Given the description of an element on the screen output the (x, y) to click on. 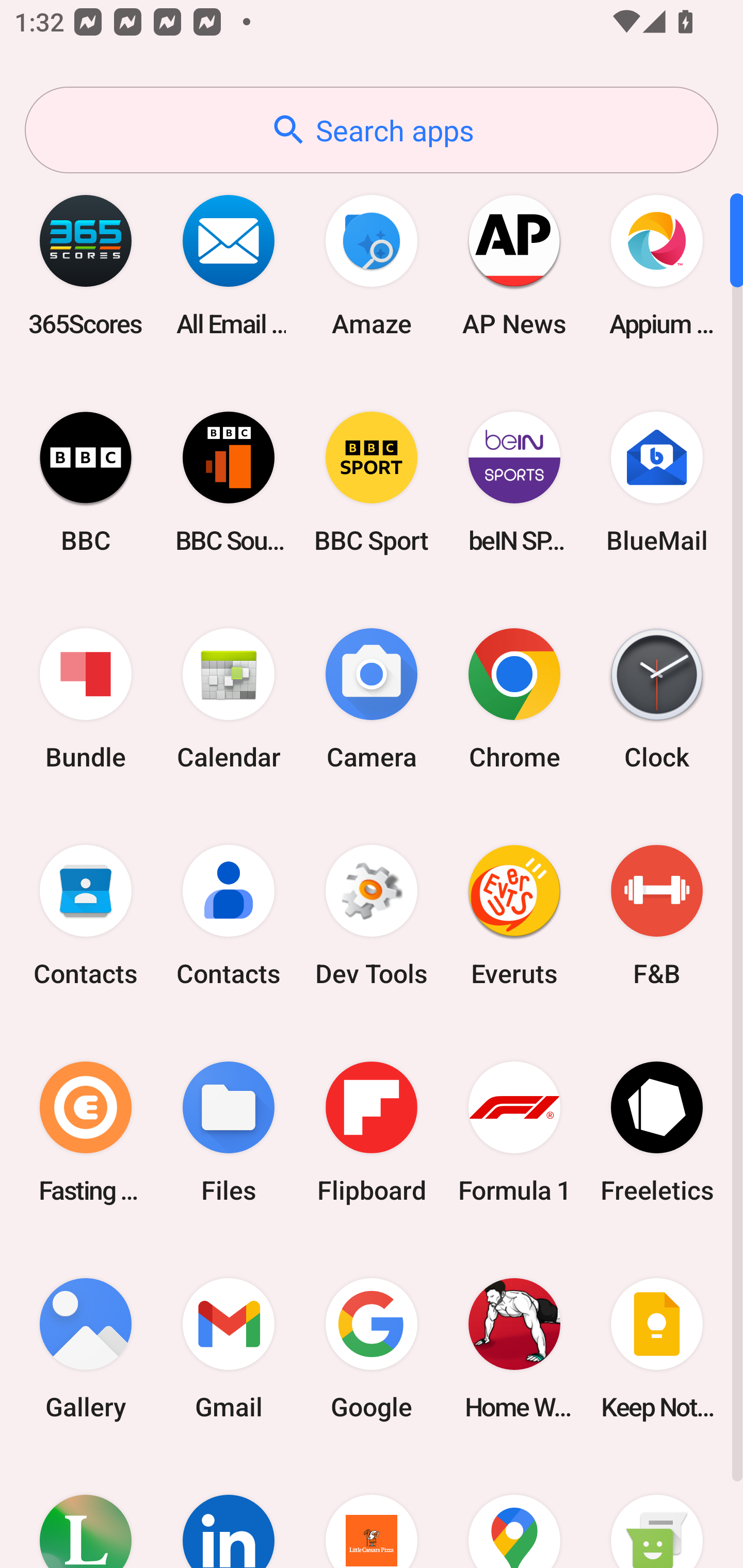
  Search apps (371, 130)
365Scores (85, 264)
All Email Connect (228, 264)
Amaze (371, 264)
AP News (514, 264)
Appium Settings (656, 264)
BBC (85, 482)
BBC Sounds (228, 482)
BBC Sport (371, 482)
beIN SPORTS (514, 482)
BlueMail (656, 482)
Bundle (85, 699)
Calendar (228, 699)
Camera (371, 699)
Chrome (514, 699)
Clock (656, 699)
Contacts (85, 915)
Contacts (228, 915)
Dev Tools (371, 915)
Everuts (514, 915)
F&B (656, 915)
Fasting Coach (85, 1131)
Files (228, 1131)
Flipboard (371, 1131)
Formula 1 (514, 1131)
Freeletics (656, 1131)
Gallery (85, 1348)
Gmail (228, 1348)
Google (371, 1348)
Home Workout (514, 1348)
Keep Notes (656, 1348)
Lifesum (85, 1512)
LinkedIn (228, 1512)
Little Caesars Pizza (371, 1512)
Maps (514, 1512)
Messaging (656, 1512)
